Given the description of an element on the screen output the (x, y) to click on. 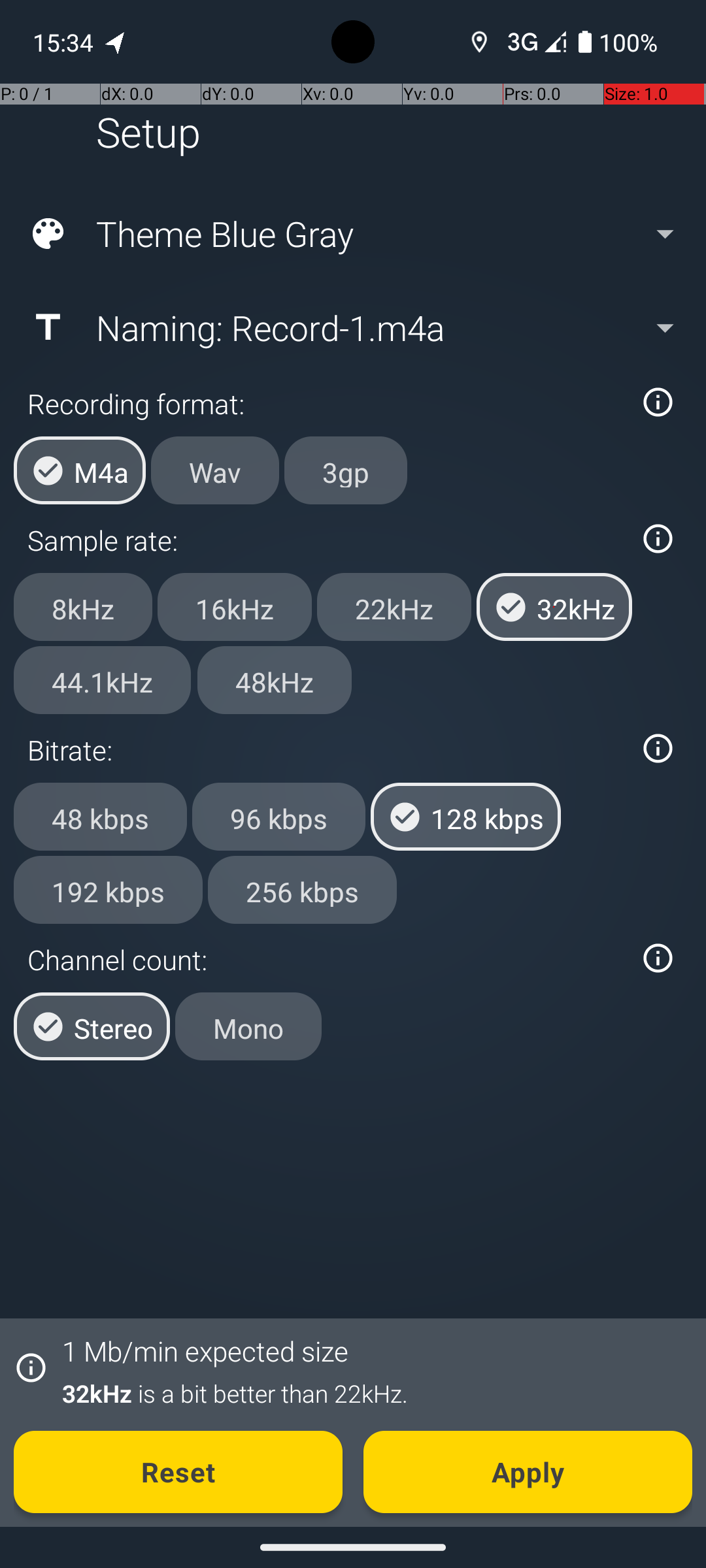
1 Mb/min expected size Element type: android.widget.TextView (205, 1350)
32kHz is a bit better than 22kHz. Element type: android.widget.TextView (370, 1392)
Reset Element type: android.widget.Button (177, 1471)
Apply Element type: android.widget.Button (527, 1471)
Setup Element type: android.widget.TextView (148, 131)
Recording format: Element type: android.widget.TextView (325, 403)
M4a Element type: android.widget.TextView (79, 470)
Wav Element type: android.widget.TextView (215, 470)
3gp Element type: android.widget.TextView (345, 470)
Sample rate: Element type: android.widget.TextView (325, 539)
44.1kHz Element type: android.widget.TextView (101, 680)
32kHz Element type: android.widget.TextView (554, 606)
16kHz Element type: android.widget.TextView (234, 606)
22kHz Element type: android.widget.TextView (394, 606)
48kHz Element type: android.widget.TextView (274, 680)
8kHz Element type: android.widget.TextView (82, 606)
Bitrate: Element type: android.widget.TextView (325, 749)
128 kbps Element type: android.widget.TextView (465, 816)
192 kbps Element type: android.widget.TextView (107, 889)
256 kbps Element type: android.widget.TextView (301, 889)
48 kbps Element type: android.widget.TextView (99, 816)
96 kbps Element type: android.widget.TextView (278, 816)
Channel count: Element type: android.widget.TextView (325, 959)
Stereo Element type: android.widget.TextView (91, 1026)
Mono Element type: android.widget.TextView (248, 1026)
Theme Blue Gray Element type: android.widget.TextView (352, 233)
Naming: Record-1.m4a Element type: android.widget.TextView (352, 327)
OpenTracks notification: Distance: 0.00 ft Element type: android.widget.ImageView (115, 41)
Location requests active Element type: android.widget.ImageView (479, 41)
Phone two bars. Element type: android.widget.FrameLayout (534, 41)
